Given the description of an element on the screen output the (x, y) to click on. 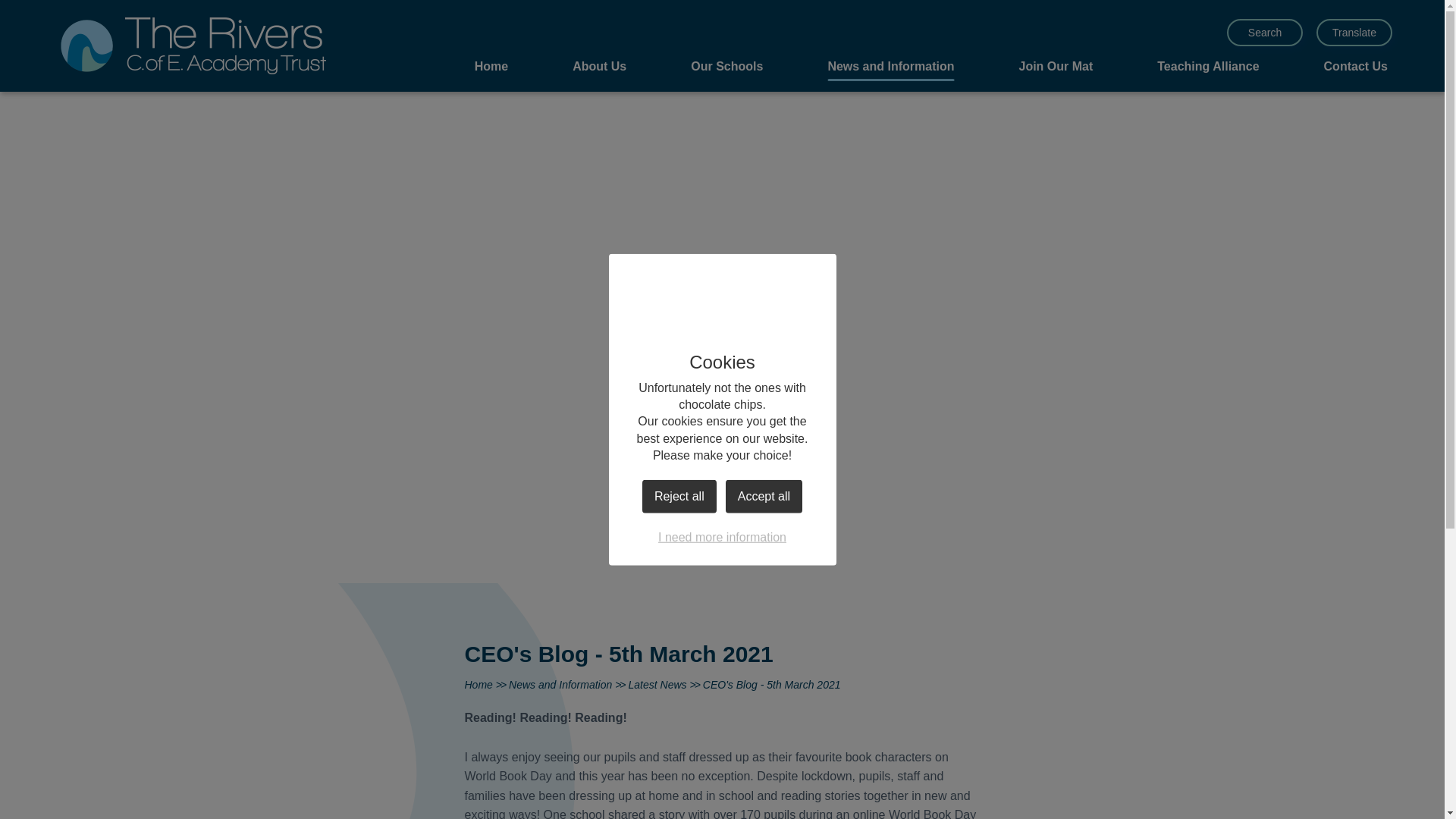
Our Schools (726, 68)
News and Information (890, 68)
About Us (599, 68)
Home (491, 68)
Home Page (193, 45)
